Given the description of an element on the screen output the (x, y) to click on. 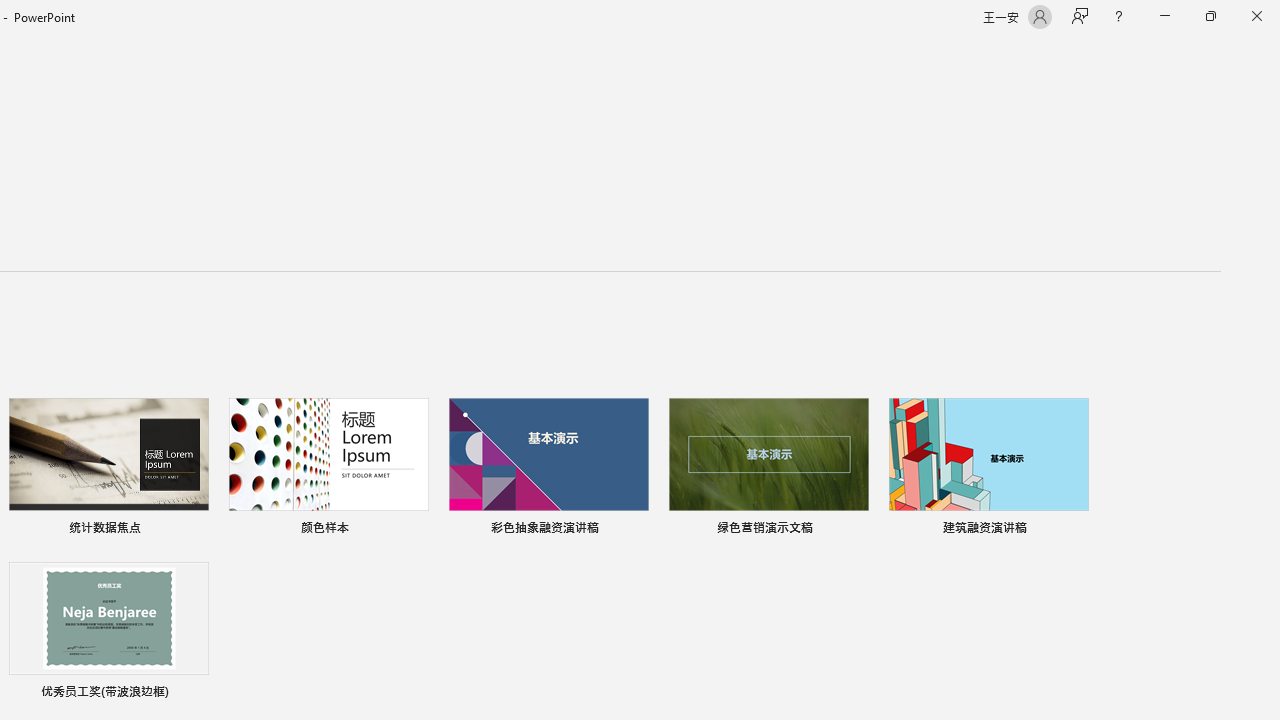
Pin to list (195, 693)
